Given the description of an element on the screen output the (x, y) to click on. 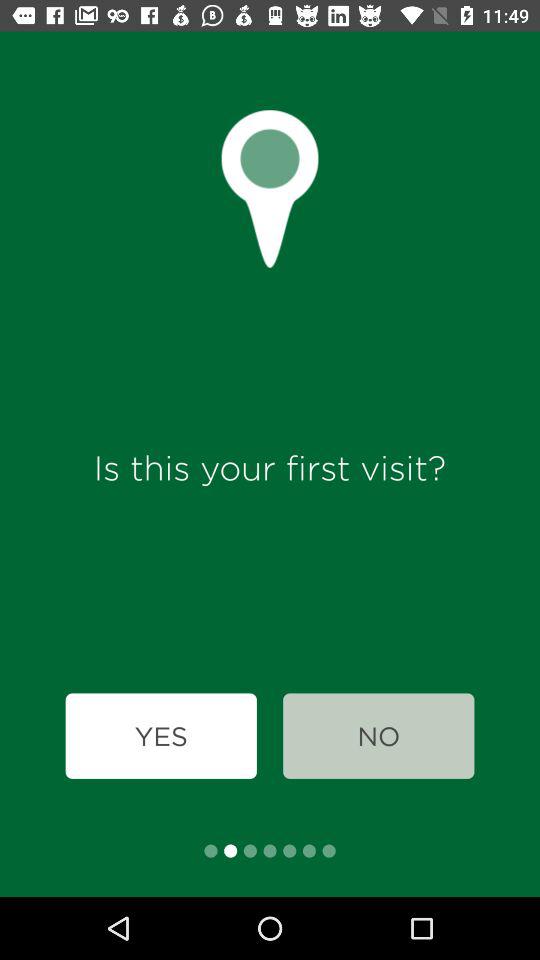
swipe until the yes item (160, 735)
